Given the description of an element on the screen output the (x, y) to click on. 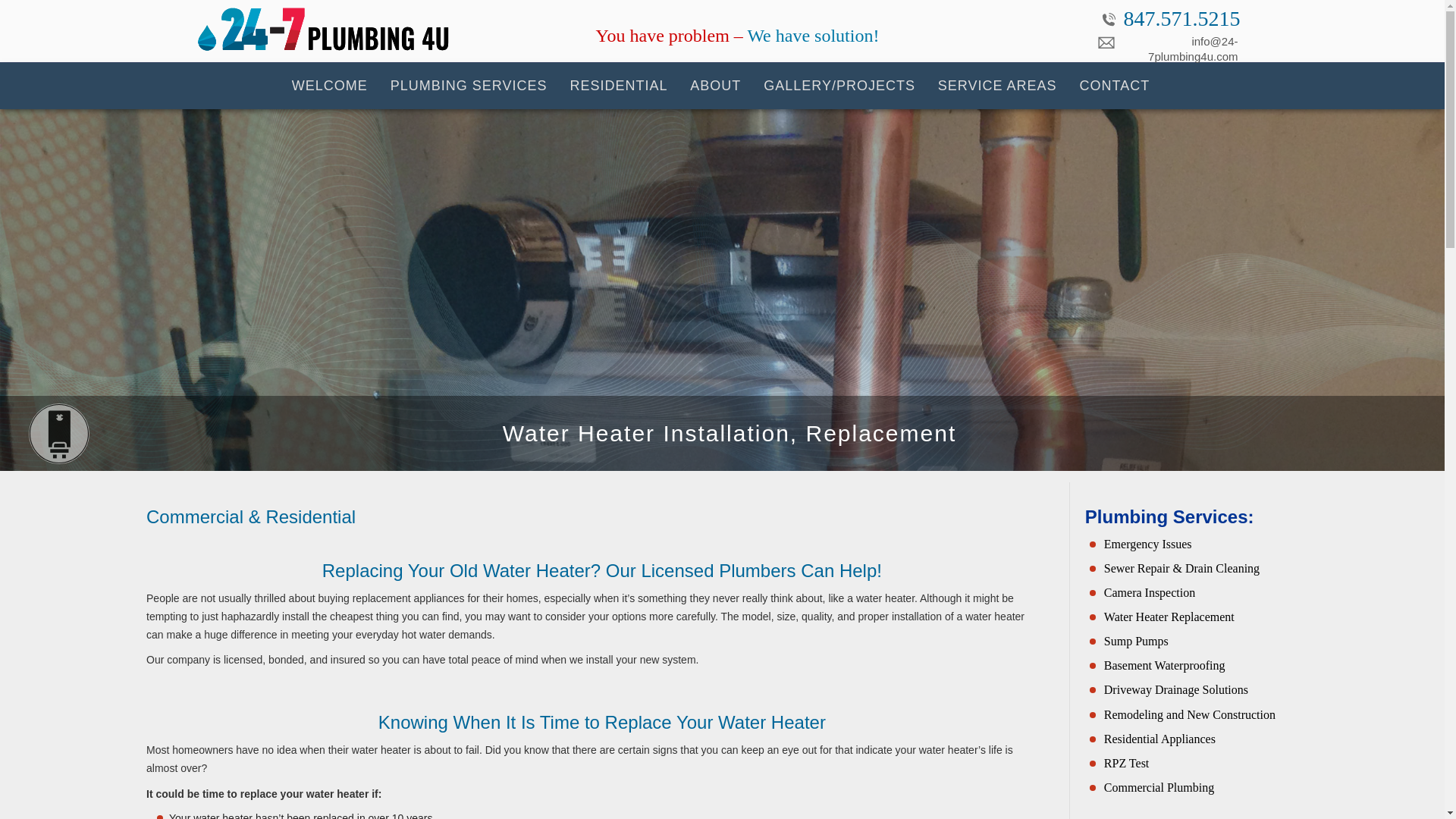
CONTACT (1113, 85)
847.571.5215 (1170, 21)
PLUMBING SERVICES (468, 85)
ABOUT (715, 85)
WELCOME (329, 85)
RESIDENTIAL (617, 85)
SERVICE AREAS (997, 85)
